Given the description of an element on the screen output the (x, y) to click on. 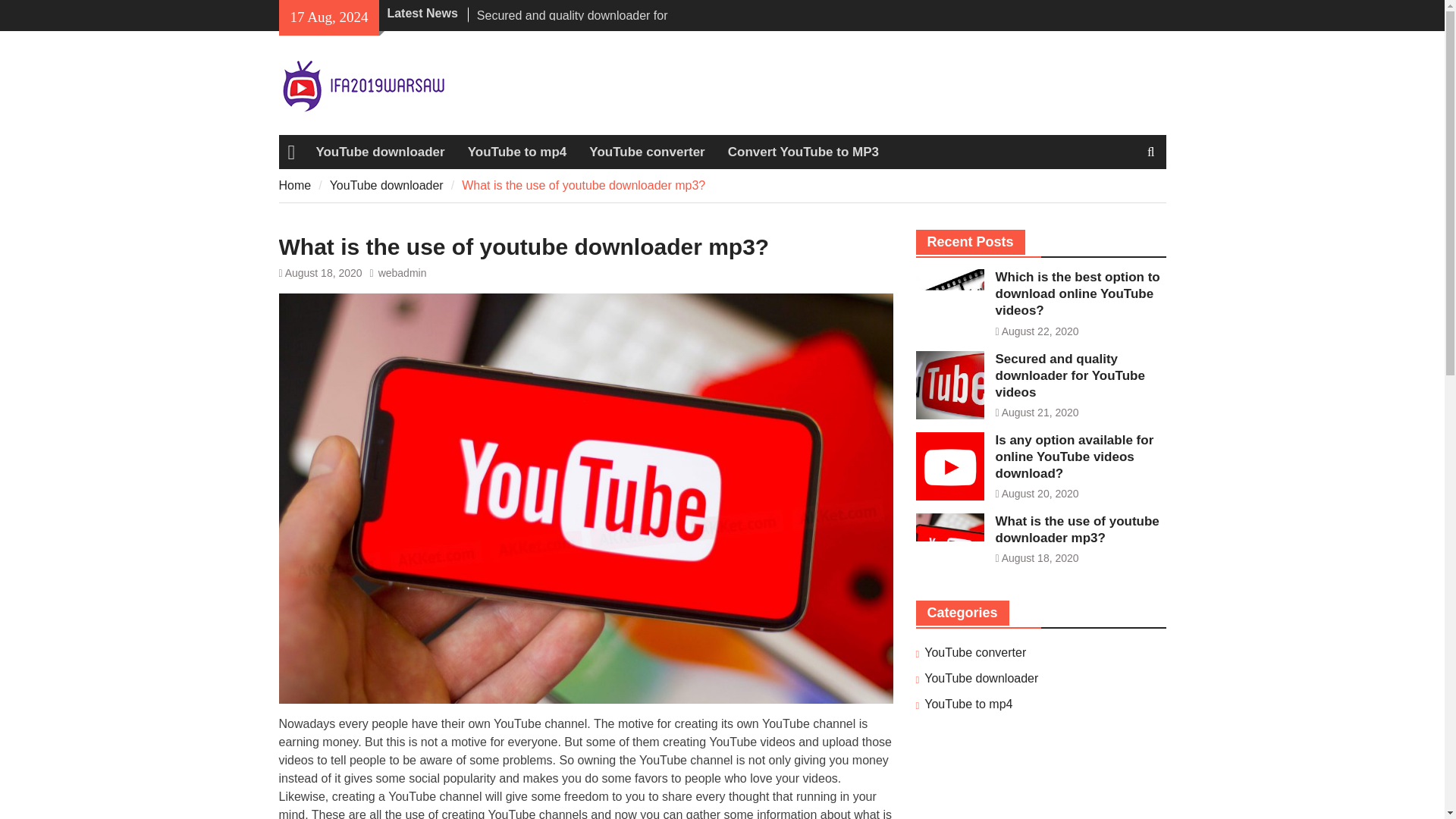
Is any option available for online YouTube videos download? (1073, 456)
Secured and quality downloader for YouTube videos (1069, 375)
What is the use of youtube downloader mp3? (1076, 529)
YouTube to mp4 (967, 704)
YouTube downloader (387, 185)
webadmin (402, 272)
YouTube converter (647, 152)
August 18, 2020 (323, 272)
Which is the best option to download online YouTube videos? (1076, 293)
YouTube to mp4 (517, 152)
